Given the description of an element on the screen output the (x, y) to click on. 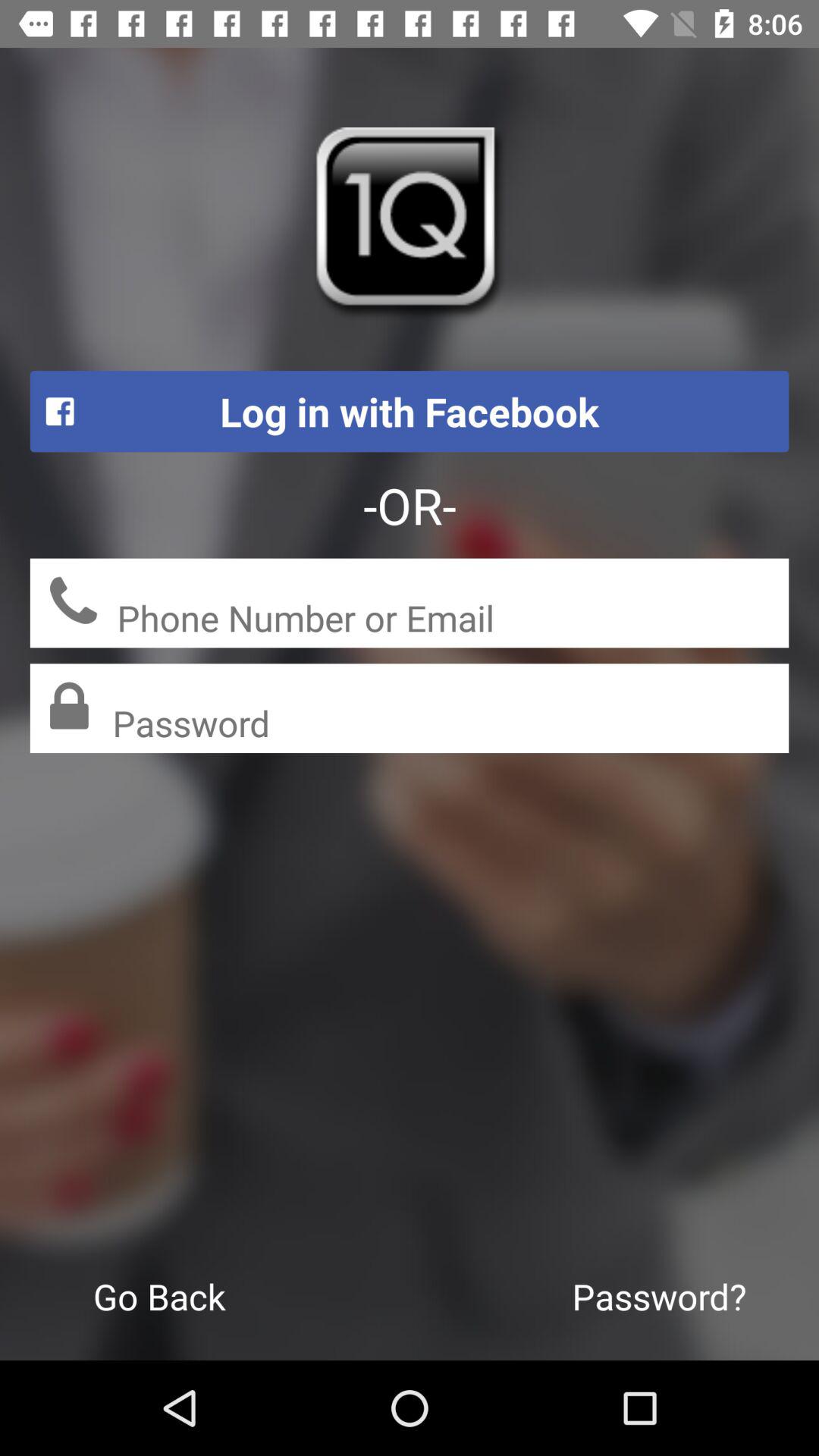
insert phone number or email (452, 619)
